Given the description of an element on the screen output the (x, y) to click on. 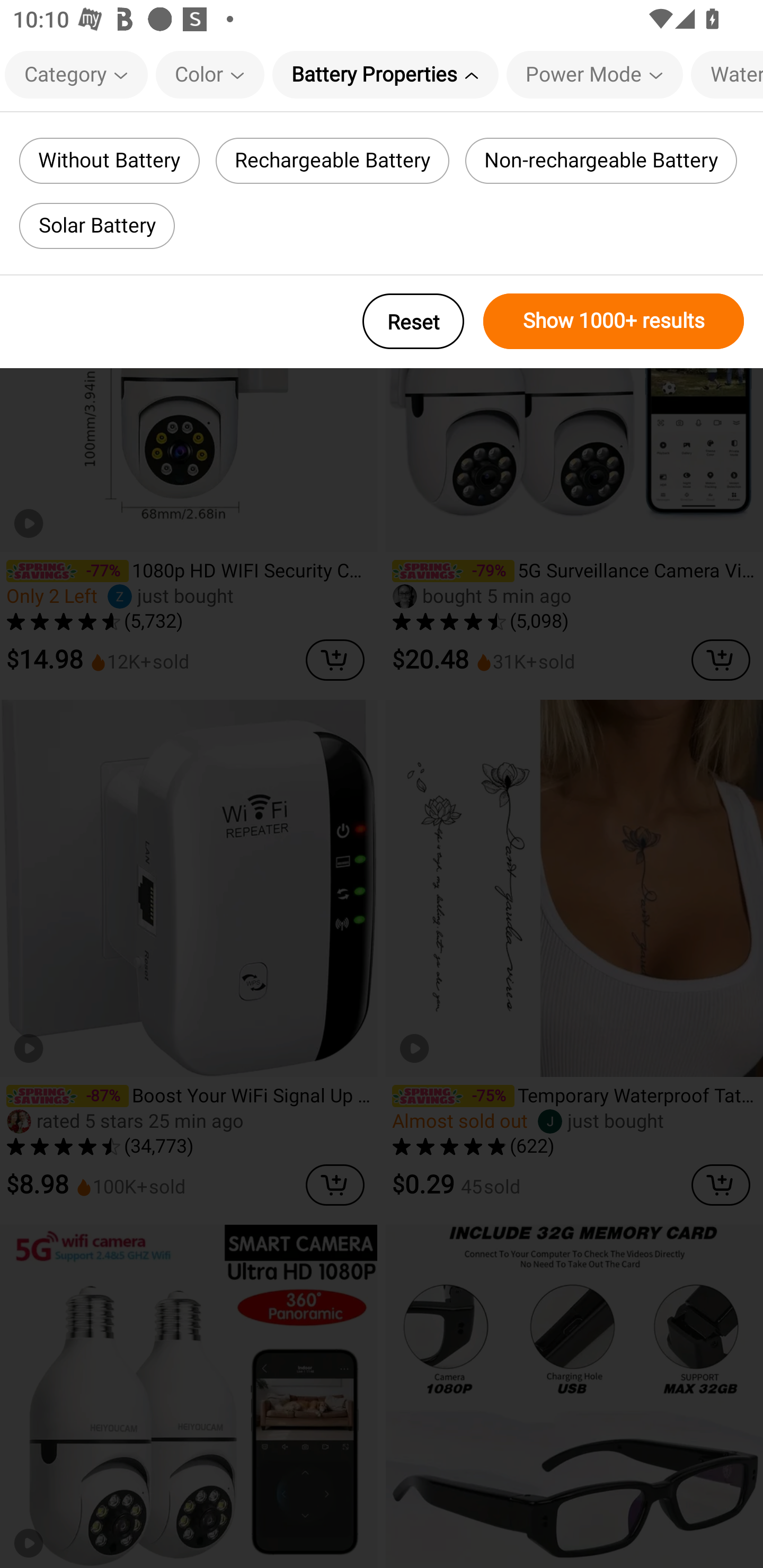
Category (76, 74)
Color (209, 74)
Battery Properties (385, 74)
Power Mode (594, 74)
Without Battery (109, 160)
Rechargeable Battery (332, 160)
Non-rechargeable Battery (601, 160)
Solar Battery (96, 225)
Reset (412, 321)
Show 1000+ results (612, 321)
